Given the description of an element on the screen output the (x, y) to click on. 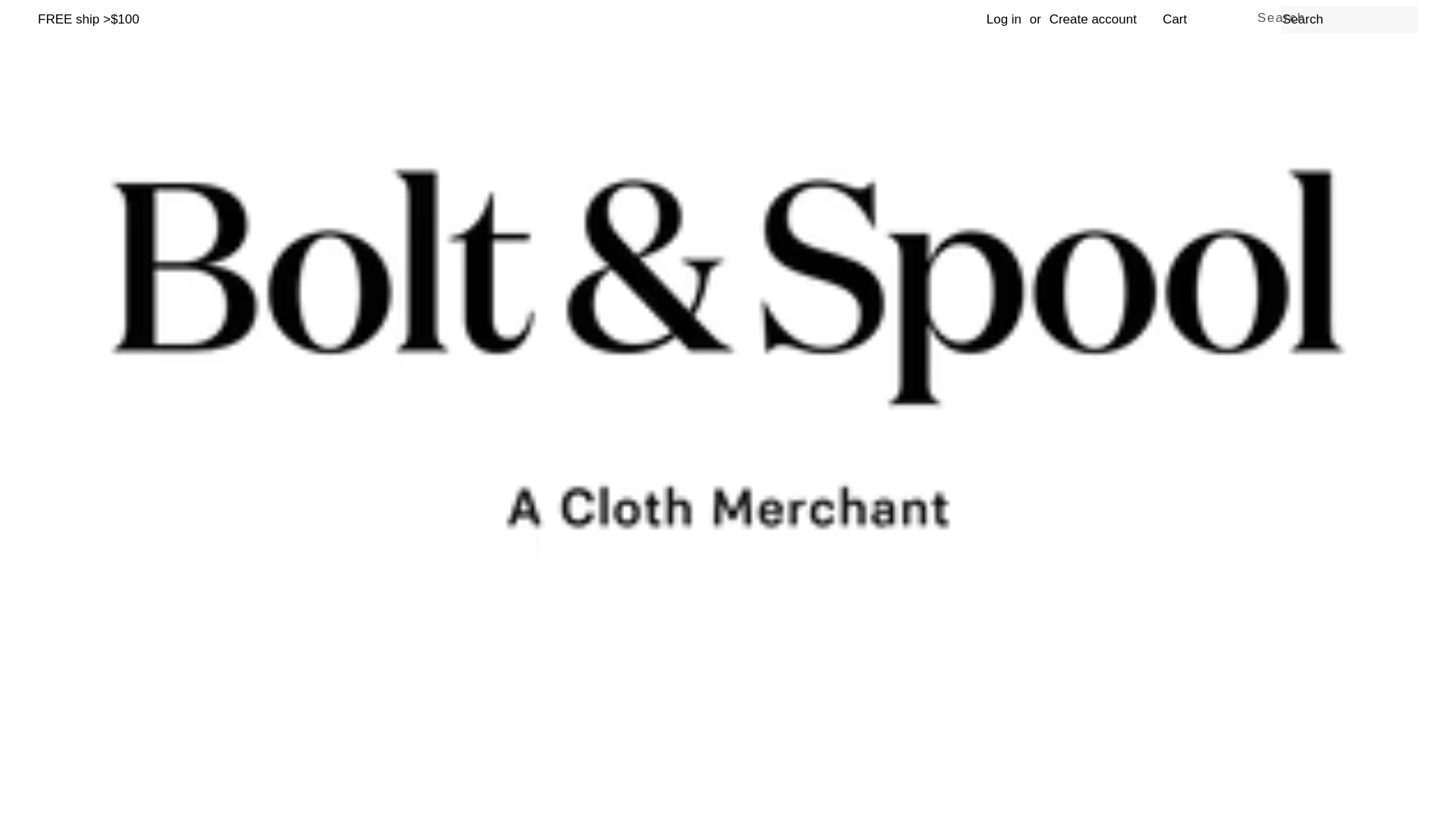
Search (1282, 17)
Log in (1004, 19)
Cart (1173, 20)
Create account (1093, 19)
